Given the description of an element on the screen output the (x, y) to click on. 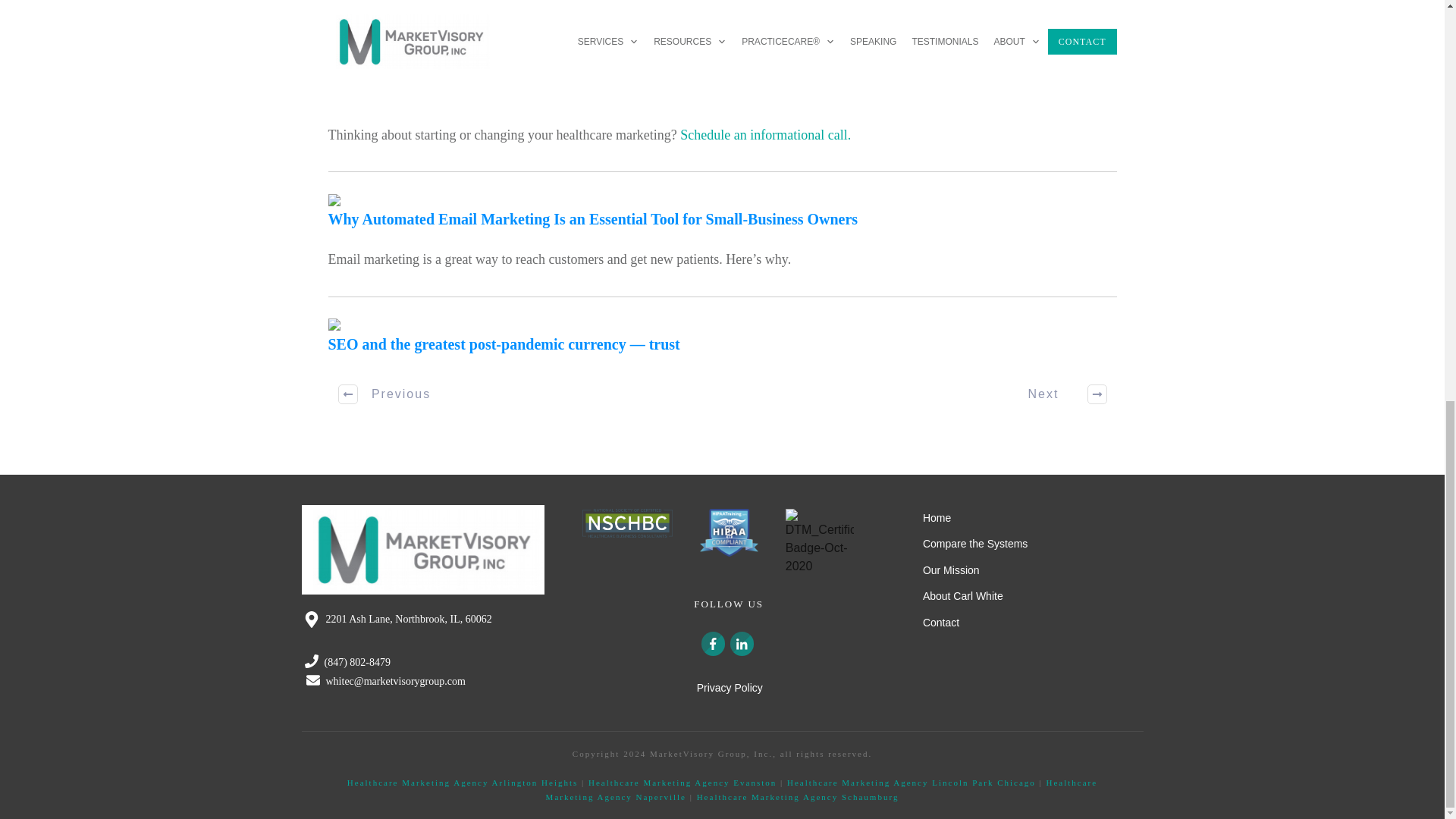
Schedule an informational call. (764, 134)
logo (422, 549)
